Given the description of an element on the screen output the (x, y) to click on. 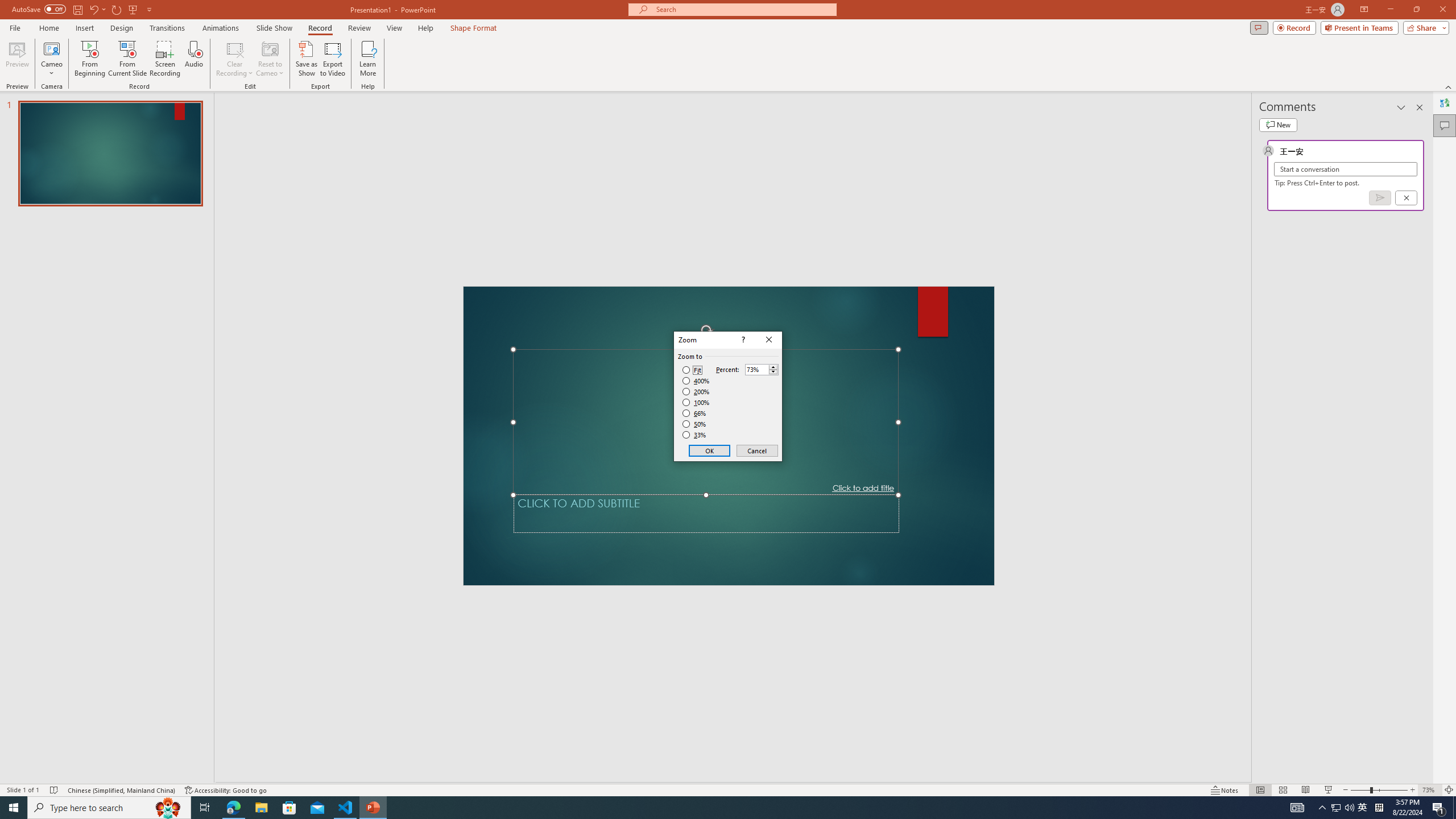
Search highlights icon opens search home window (167, 807)
OK (709, 450)
From Beginning... (89, 58)
Subtitle TextBox (706, 513)
Cancel (756, 450)
Percent (756, 369)
Microsoft Store (289, 807)
